Given the description of an element on the screen output the (x, y) to click on. 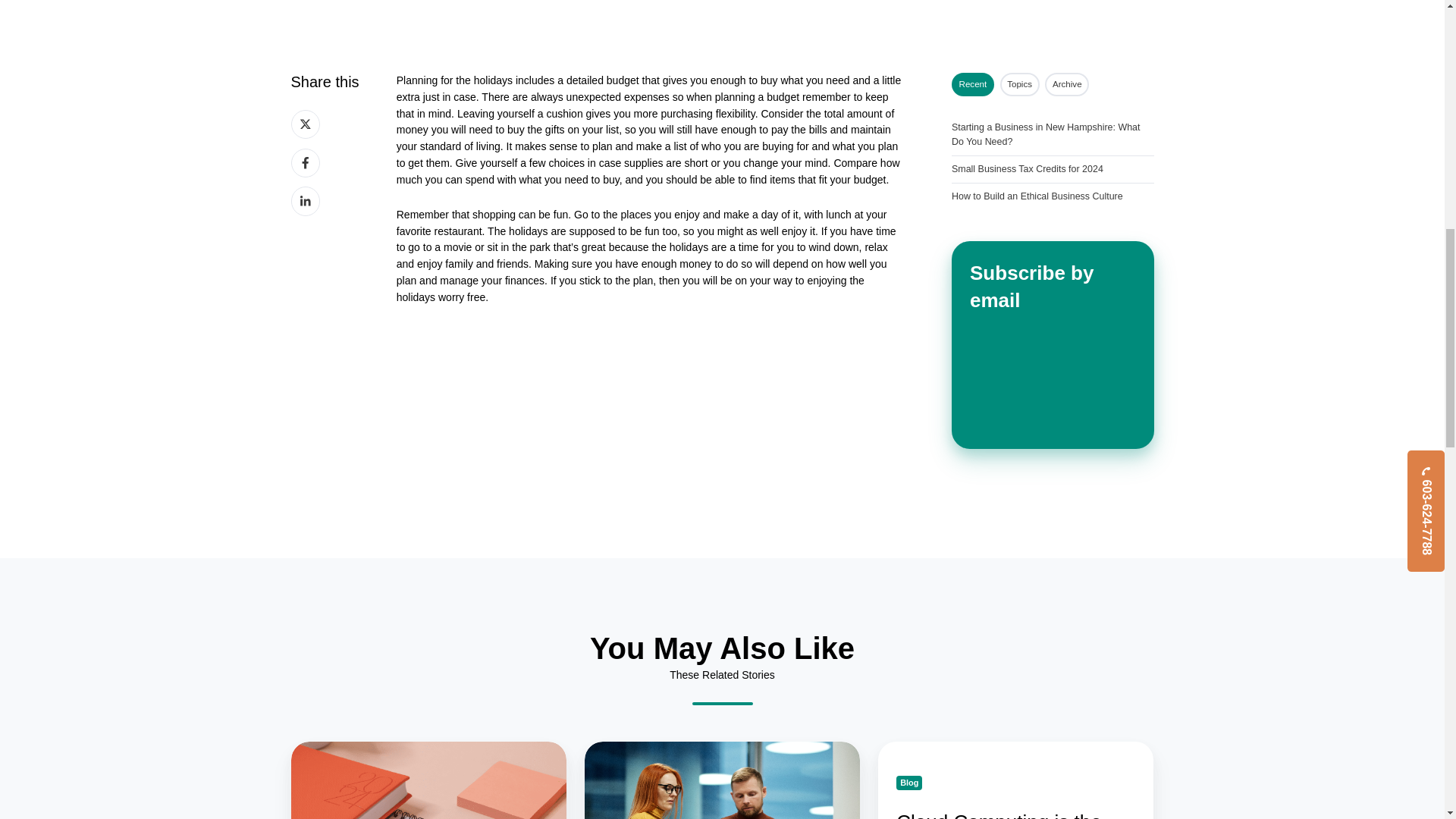
Form 0 (1052, 381)
